Given the description of an element on the screen output the (x, y) to click on. 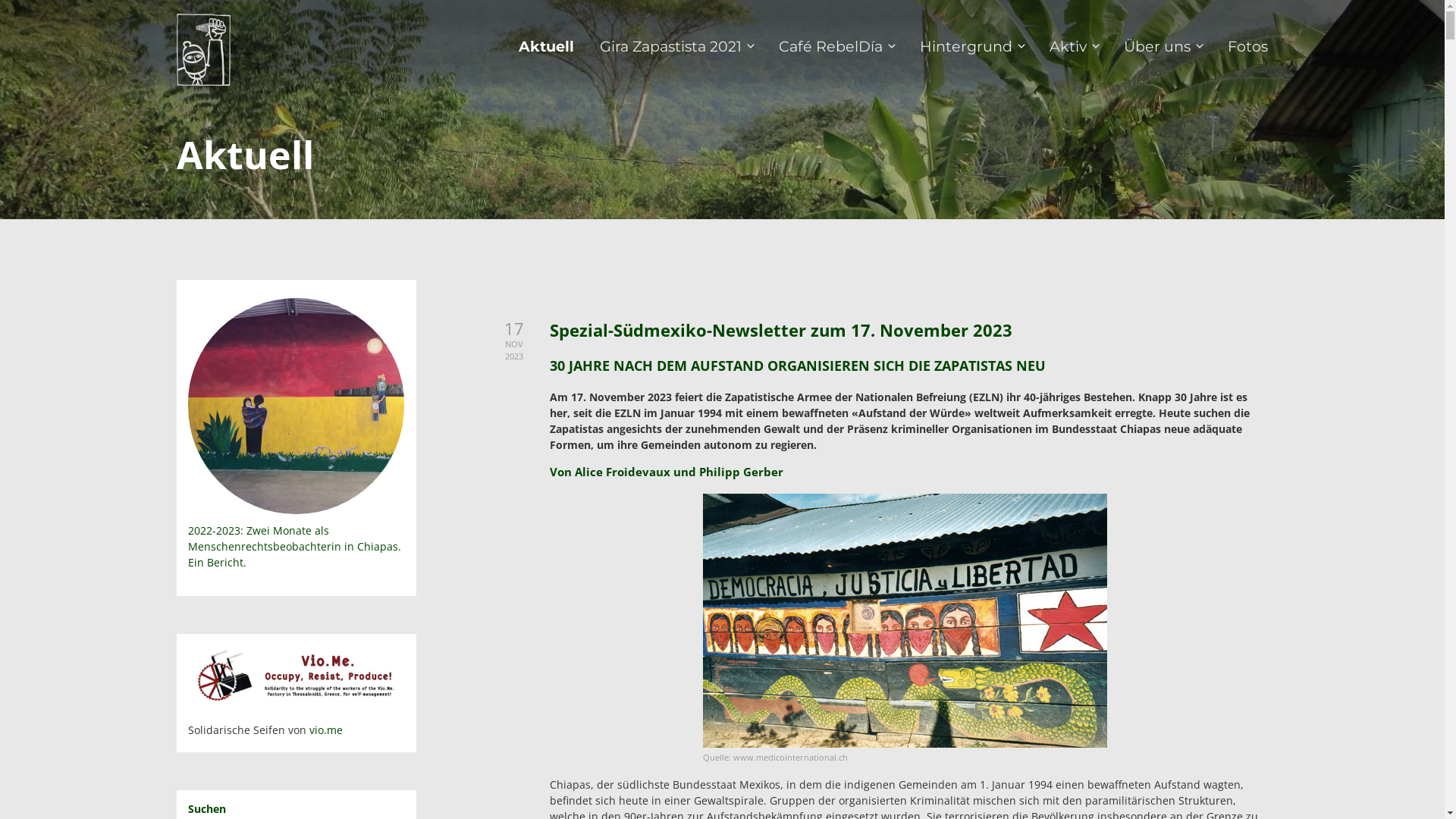
Aktuell Element type: text (546, 46)
Hintergrund Element type: text (971, 49)
Gira Zapastista 2021 Element type: text (676, 49)
vio.me Element type: text (325, 728)
Fotos Element type: text (1247, 46)
Aktiv Element type: text (1073, 49)
